Given the description of an element on the screen output the (x, y) to click on. 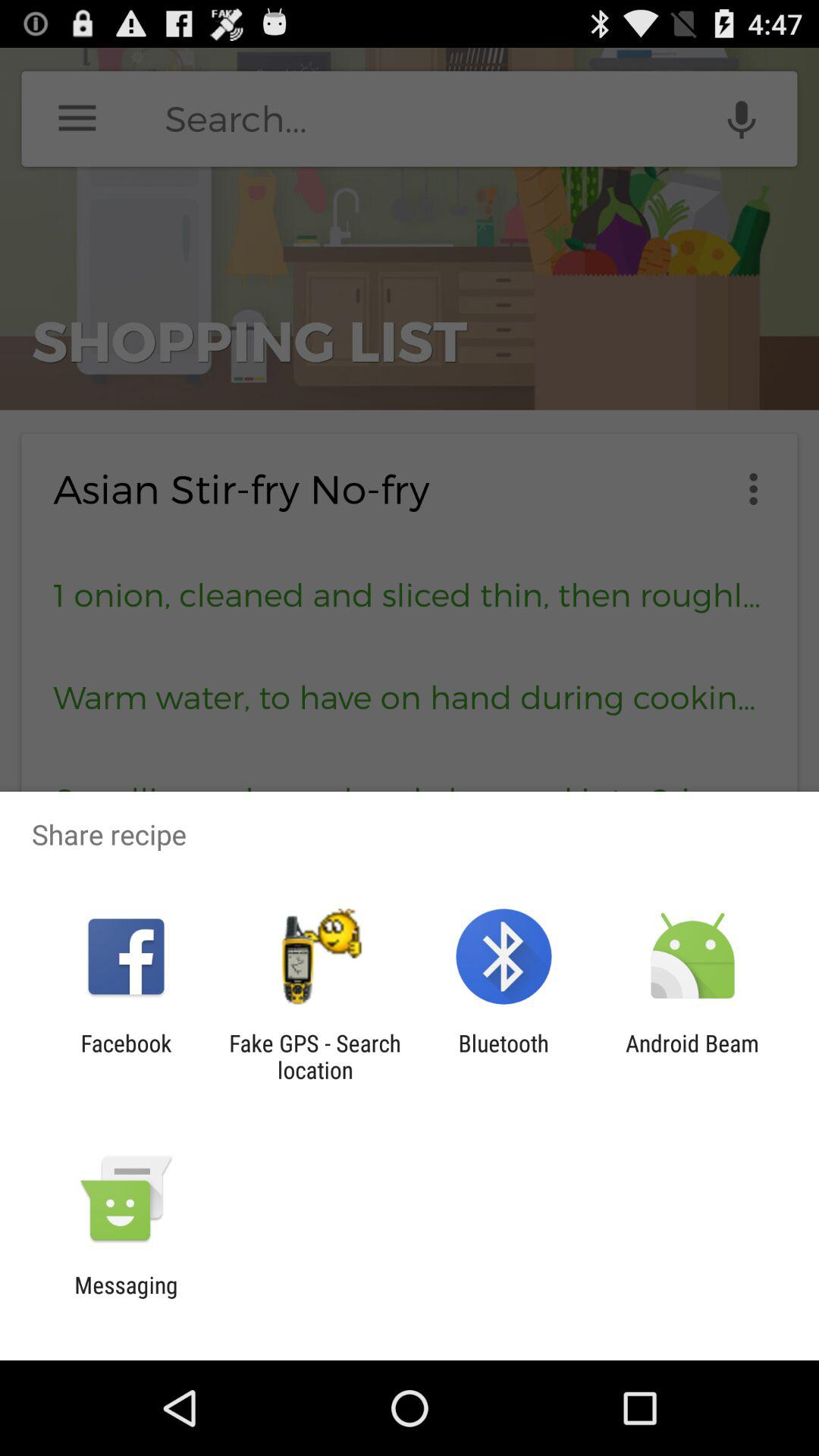
select item next to the fake gps search item (503, 1056)
